Given the description of an element on the screen output the (x, y) to click on. 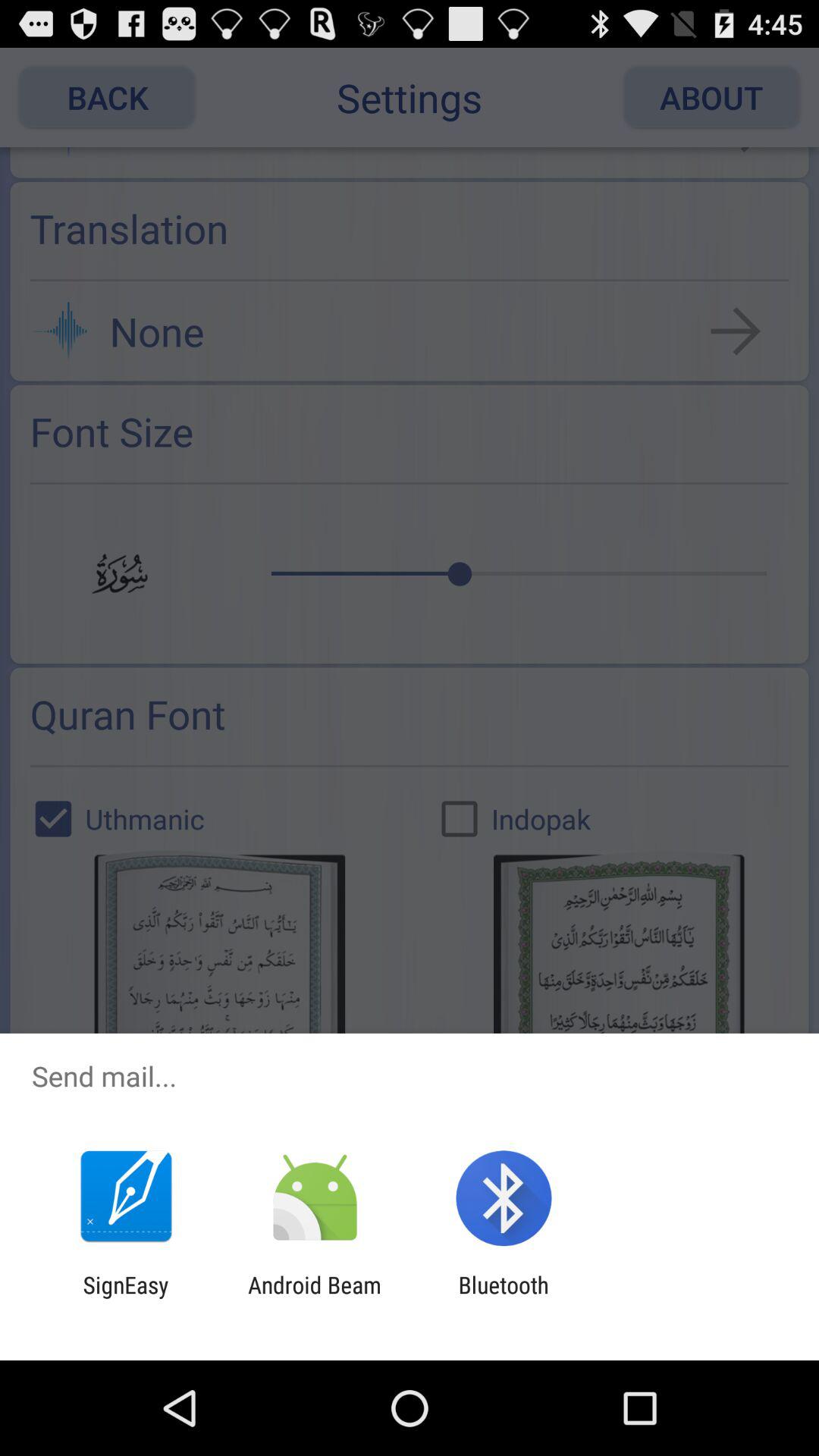
open the item next to the android beam item (125, 1298)
